Given the description of an element on the screen output the (x, y) to click on. 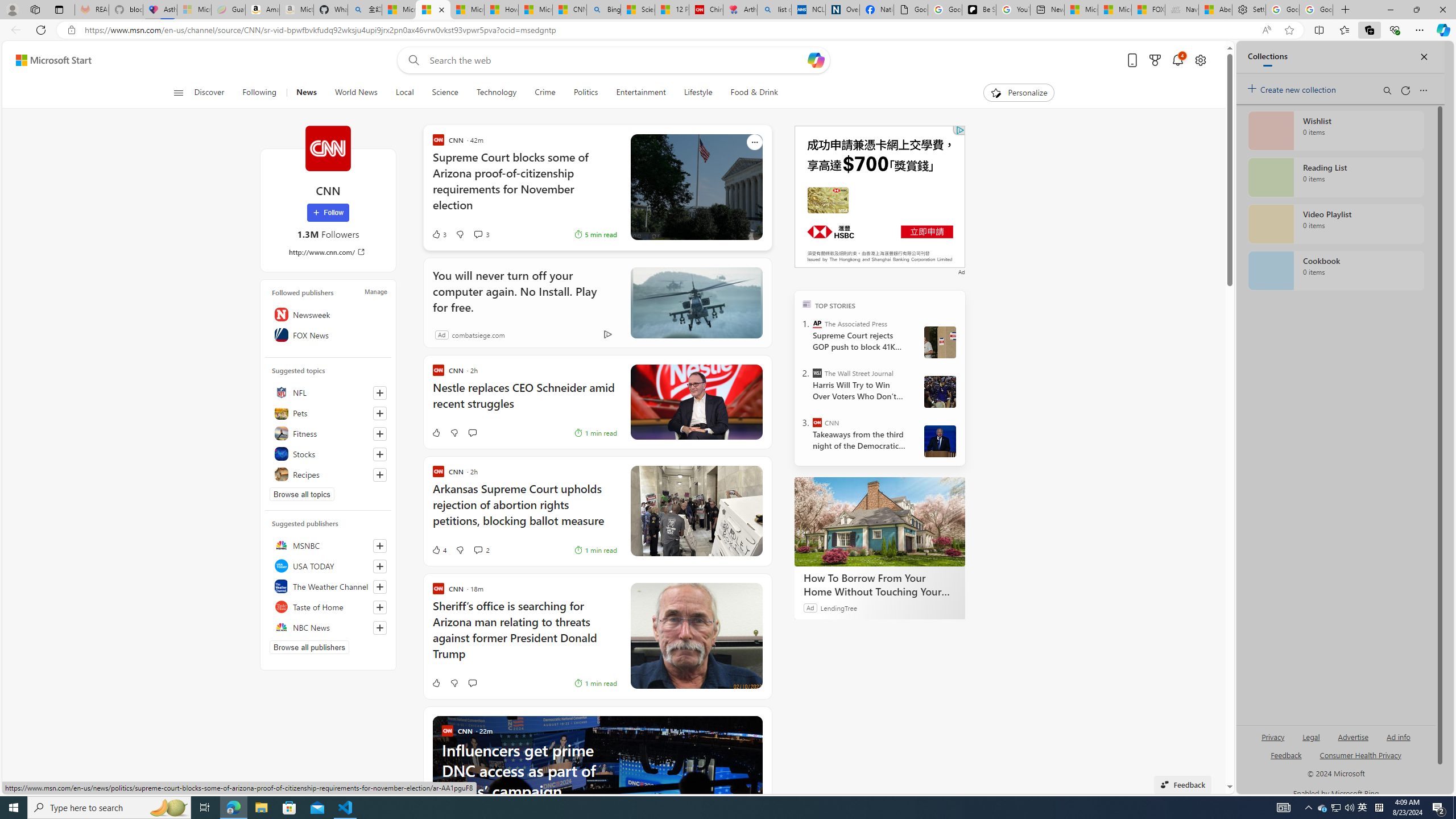
Taste of Home (327, 606)
Newsweek (327, 314)
Personalize (1019, 92)
Food & Drink (748, 92)
Pets (327, 412)
Science (444, 92)
World News (355, 92)
